Given the description of an element on the screen output the (x, y) to click on. 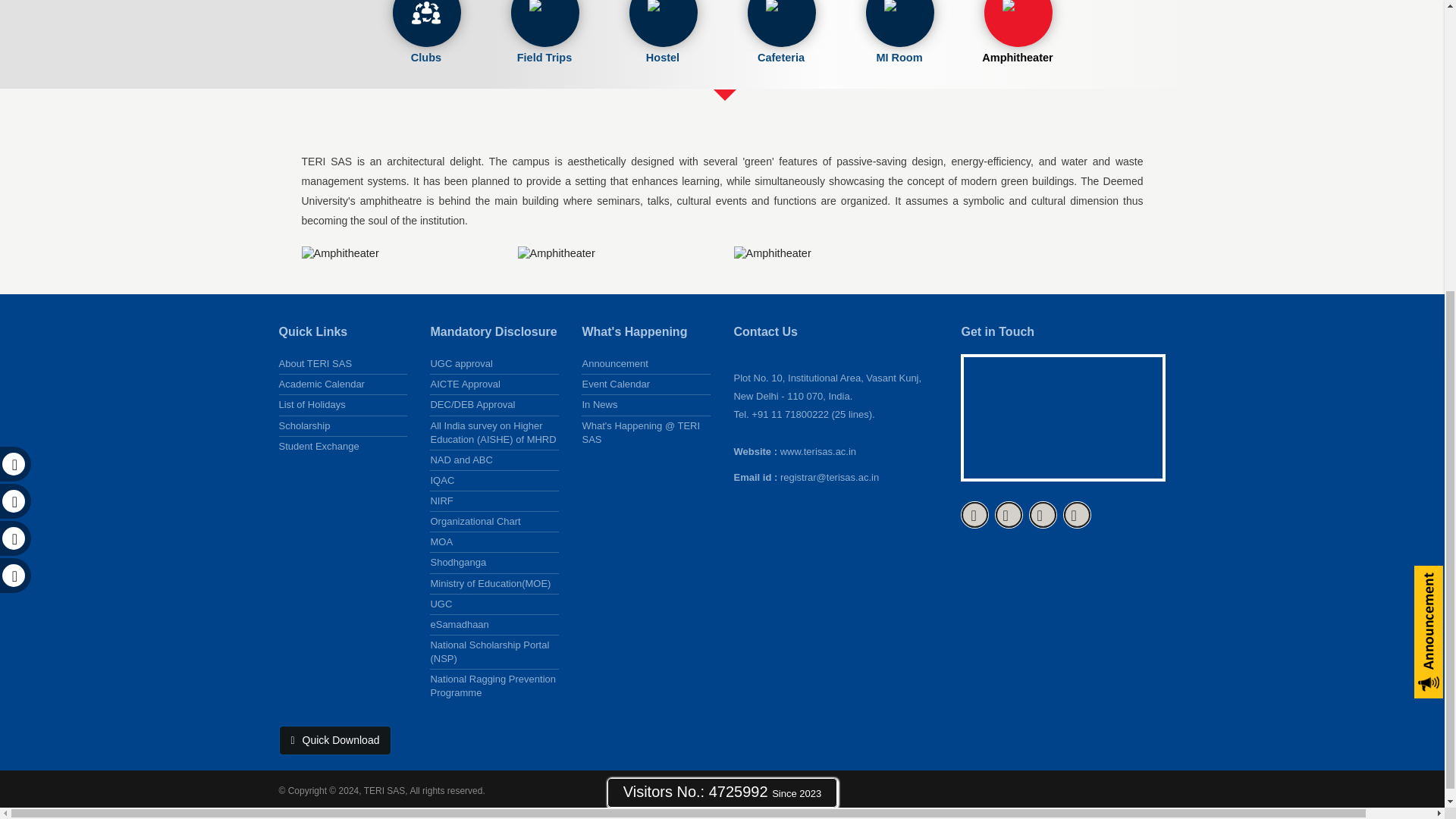
Twitter (1008, 514)
Instagram (12, 122)
Youtube (12, 85)
Twitter (12, 48)
Instagram (1077, 514)
Facebook (974, 514)
Facebook (12, 10)
Youtube (1043, 514)
